Given the description of an element on the screen output the (x, y) to click on. 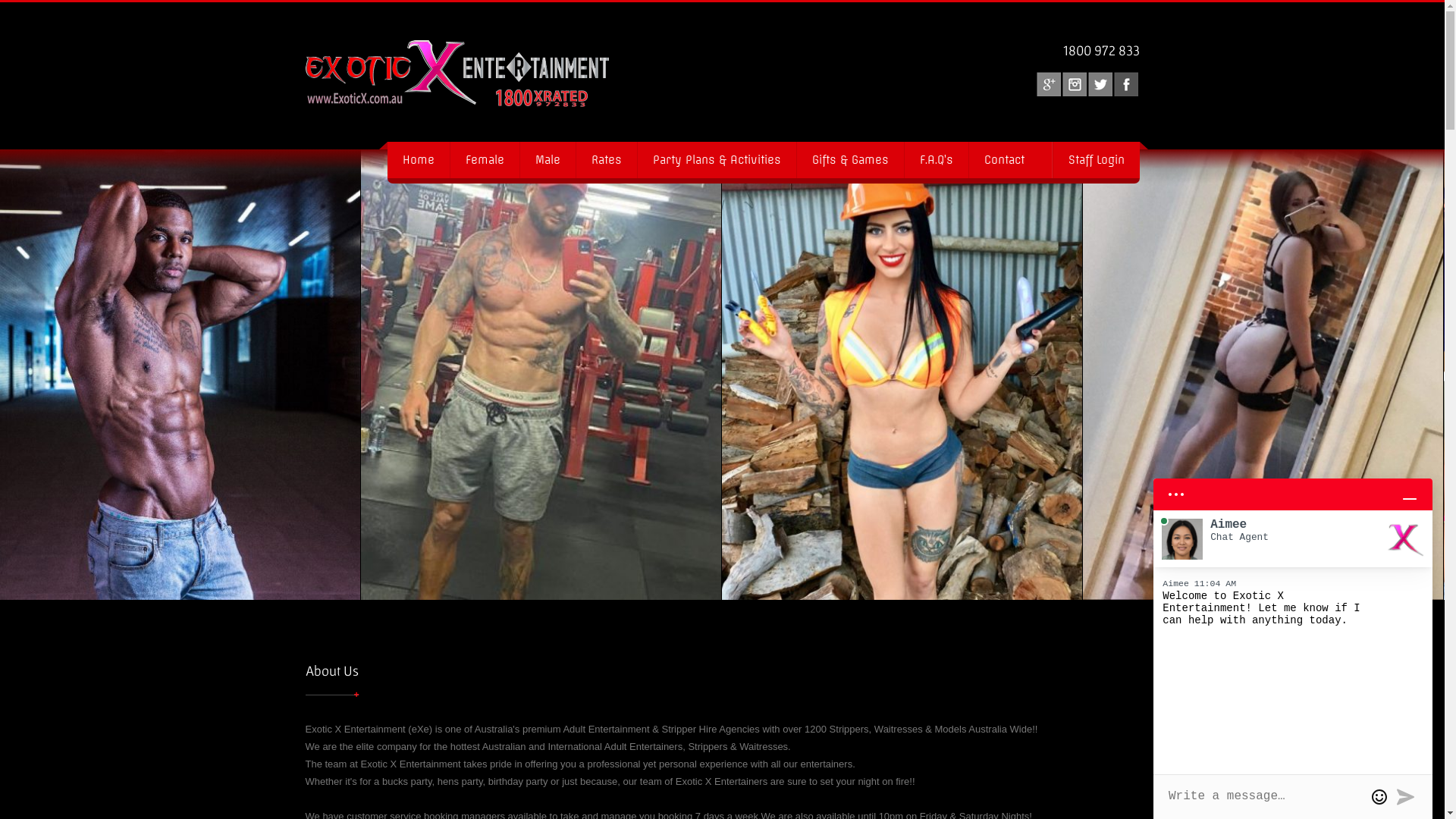
Staff Login Element type: text (1095, 159)
Female Element type: text (483, 159)
Contact Element type: text (1009, 159)
Male Element type: text (546, 159)
Party Plans & Activities Element type: text (716, 159)
Exotic X Entertainment Element type: hover (429, 75)
Home Element type: text (417, 159)
Gifts & Games Element type: text (849, 159)
1800 972 833 Element type: text (1101, 50)
Rates Element type: text (605, 159)
